Given the description of an element on the screen output the (x, y) to click on. 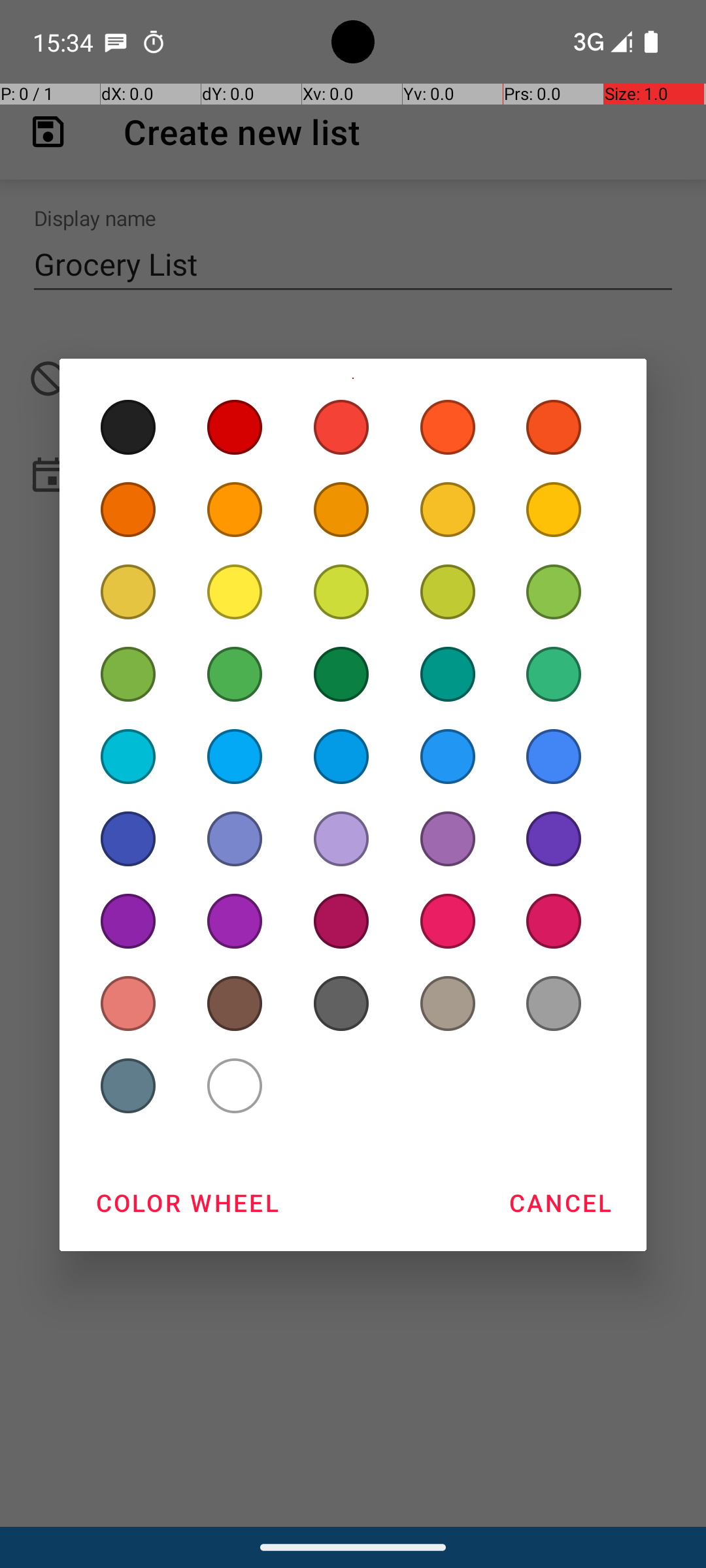
COLOR WHEEL Element type: android.widget.Button (186, 1202)
